Given the description of an element on the screen output the (x, y) to click on. 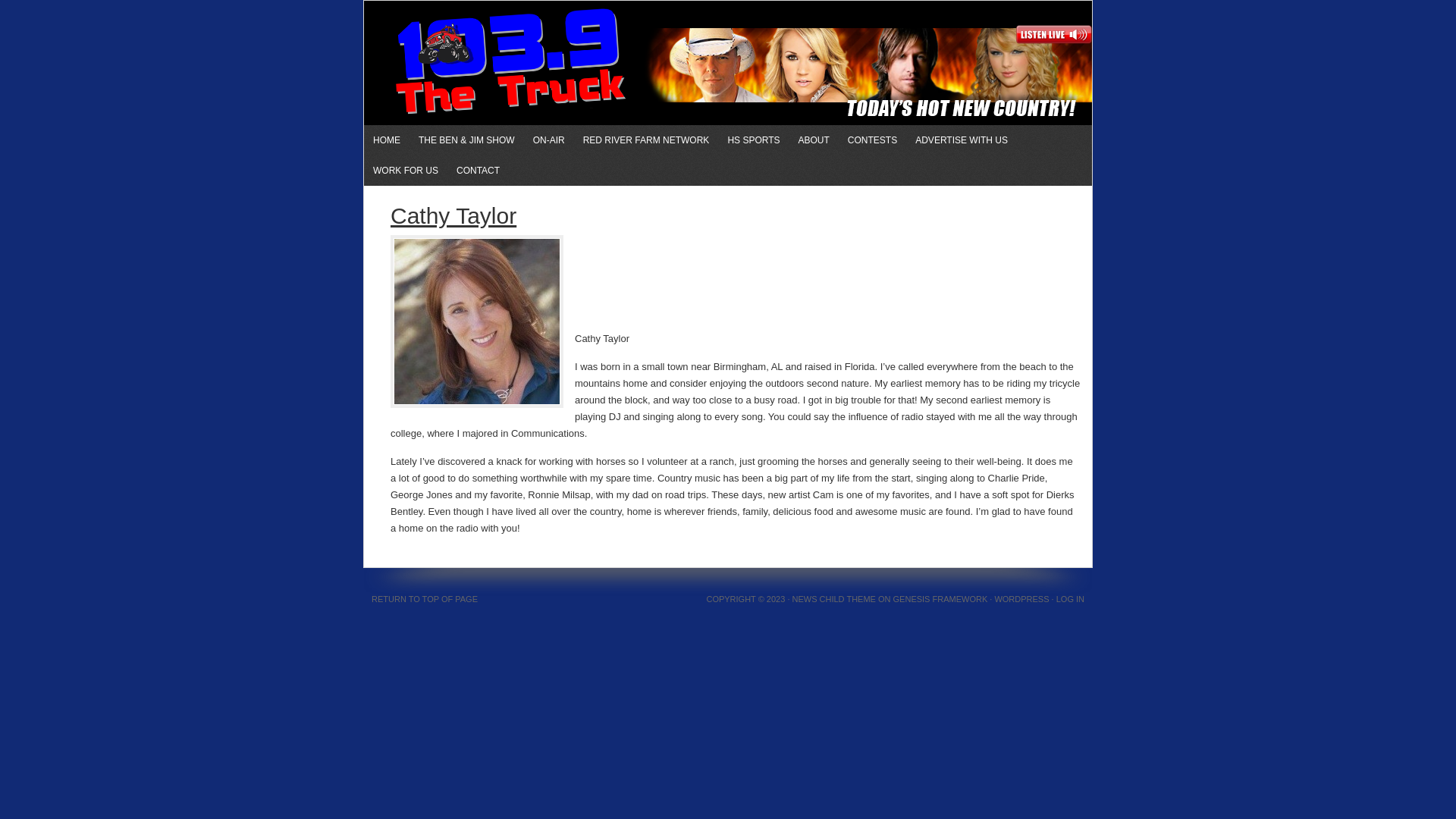
LOG IN Element type: text (1070, 598)
ABOUT Element type: text (813, 140)
RETURN TO TOP OF PAGE Element type: text (424, 598)
ADVERTISE WITH US Element type: text (961, 140)
103.9 THE TRUCK KZTK-FM Element type: text (540, 42)
HOME Element type: text (386, 140)
NEWS CHILD THEME Element type: text (833, 598)
CONTESTS Element type: text (872, 140)
WORK FOR US Element type: text (405, 170)
GENESIS FRAMEWORK Element type: text (940, 598)
THE BEN & JIM SHOW Element type: text (466, 140)
WORDPRESS Element type: text (1021, 598)
CONTACT Element type: text (477, 170)
